Given the description of an element on the screen output the (x, y) to click on. 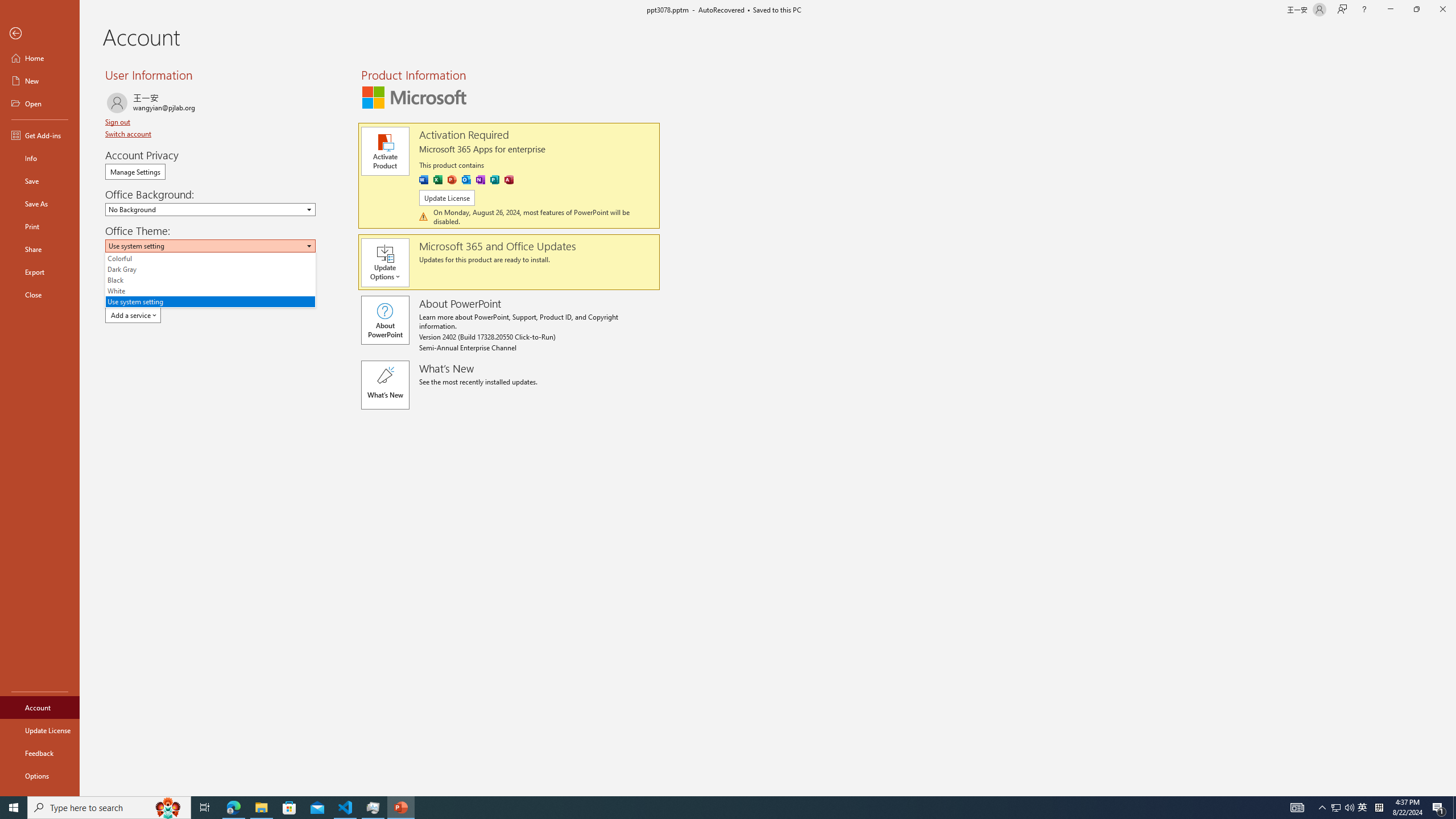
Office Theme (209, 245)
Show desktop (1454, 807)
Office Background (209, 209)
Publisher (1335, 807)
Export (494, 179)
Activate Product (40, 271)
Get Add-ins (385, 151)
Sign out (40, 134)
Outlook (118, 121)
Update License (465, 179)
Print (40, 730)
